Given the description of an element on the screen output the (x, y) to click on. 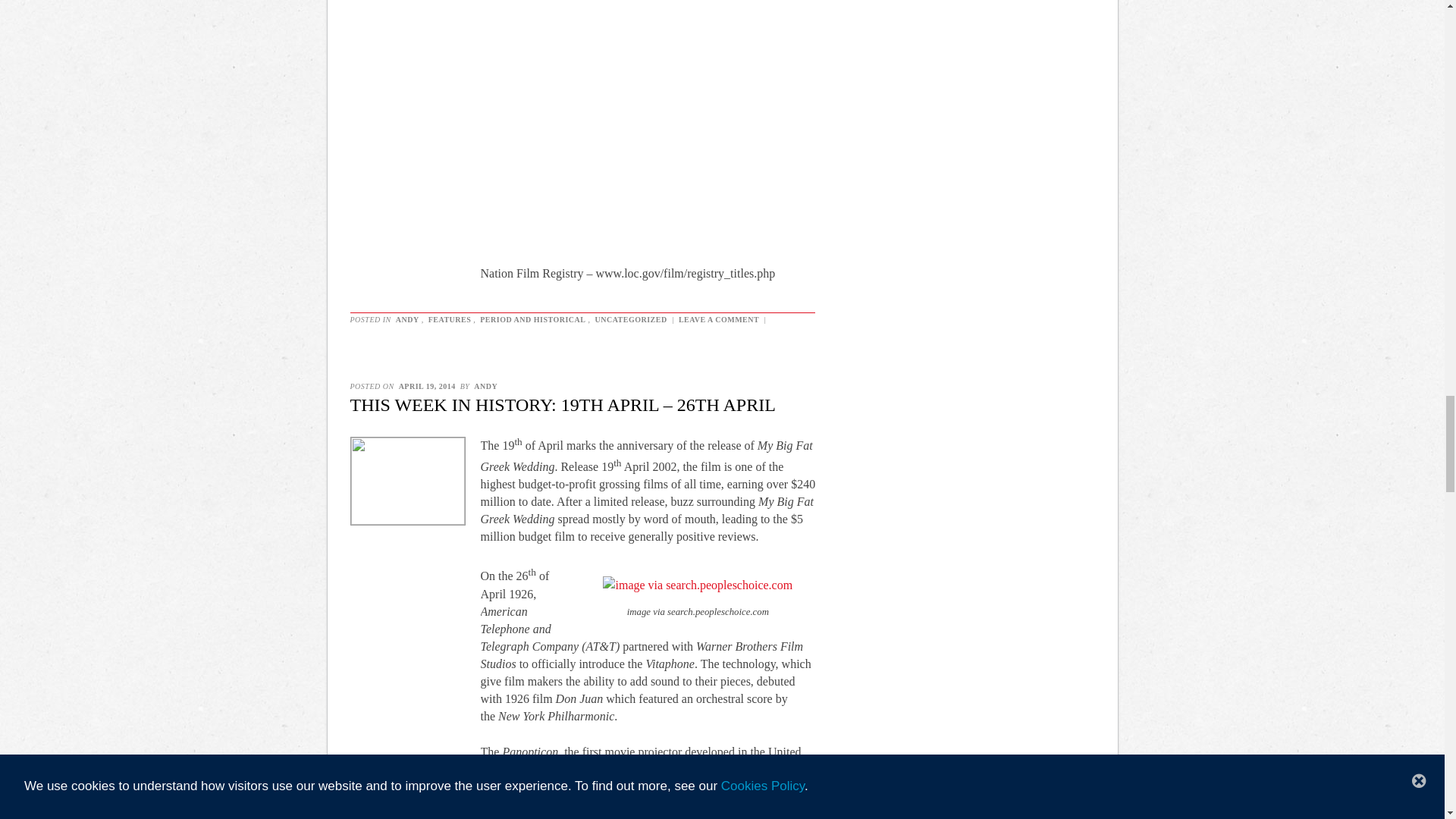
ANDY (485, 386)
APRIL 19, 2014 (427, 386)
ANDY (407, 319)
View all posts by Andy (485, 386)
UNCATEGORIZED (630, 319)
8:36 pm (427, 386)
LEAVE A COMMENT (719, 319)
PERIOD AND HISTORICAL (532, 319)
FEATURES (450, 319)
